Given the description of an element on the screen output the (x, y) to click on. 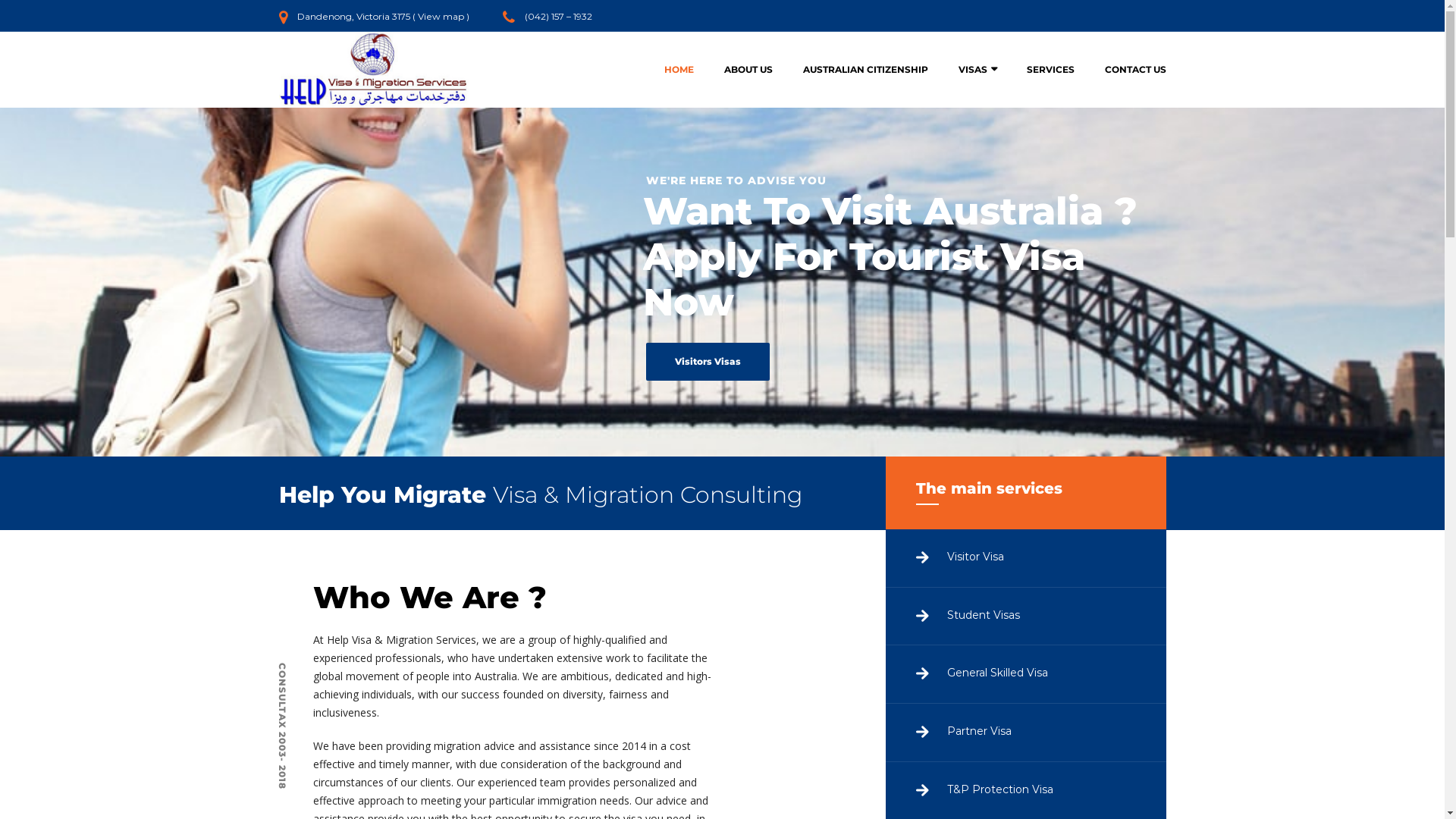
ABOUT US Element type: text (747, 69)
Partner Visa Element type: text (1025, 732)
CONTACT US Element type: text (1126, 69)
AUSTRALIAN CITIZENSHIP Element type: text (864, 69)
Visitor Visa Element type: text (1025, 558)
VISAS Element type: text (977, 69)
View map Element type: text (440, 15)
HOME Element type: text (679, 69)
Student Visas Element type: text (1025, 616)
General Skilled Visa Element type: text (1025, 674)
SERVICES Element type: text (1050, 69)
